Given the description of an element on the screen output the (x, y) to click on. 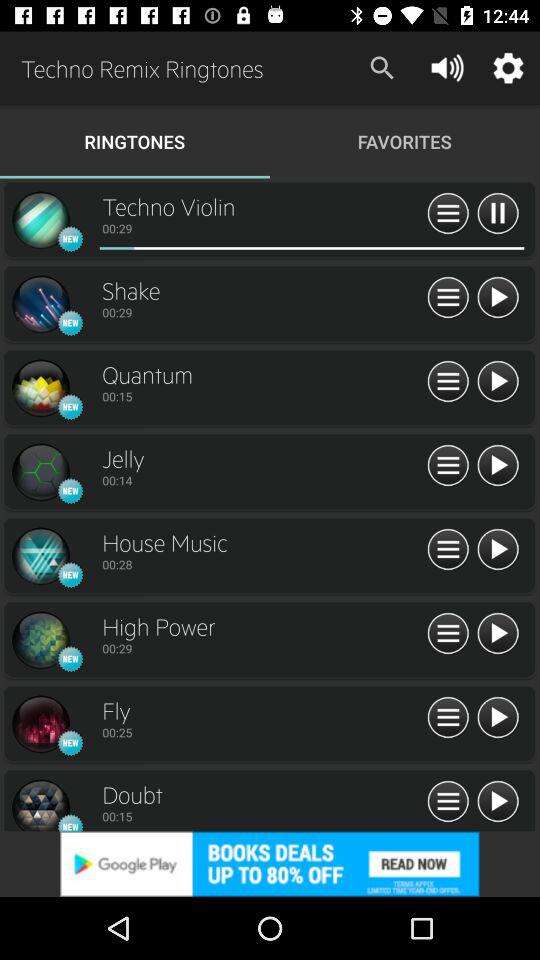
play ringtone (497, 549)
